Given the description of an element on the screen output the (x, y) to click on. 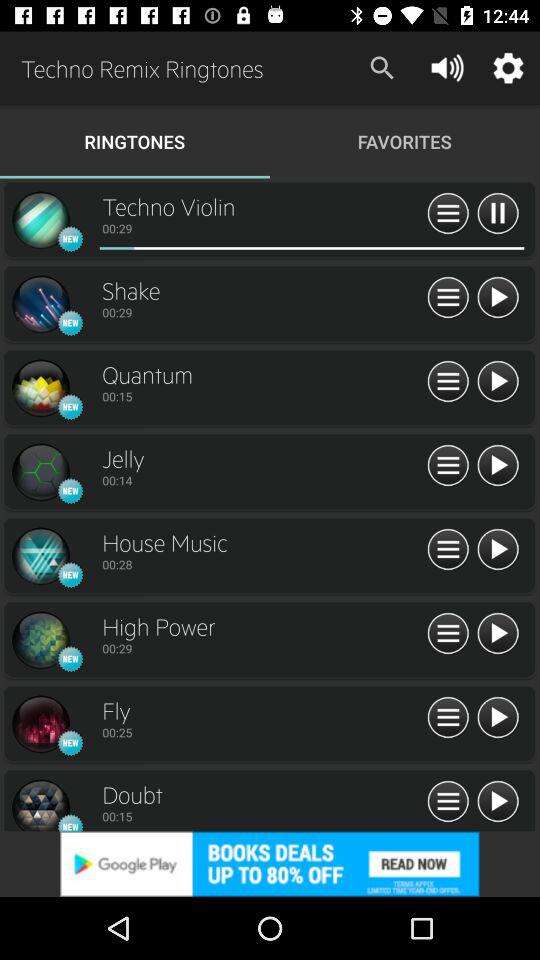
play ringtone (497, 549)
